Given the description of an element on the screen output the (x, y) to click on. 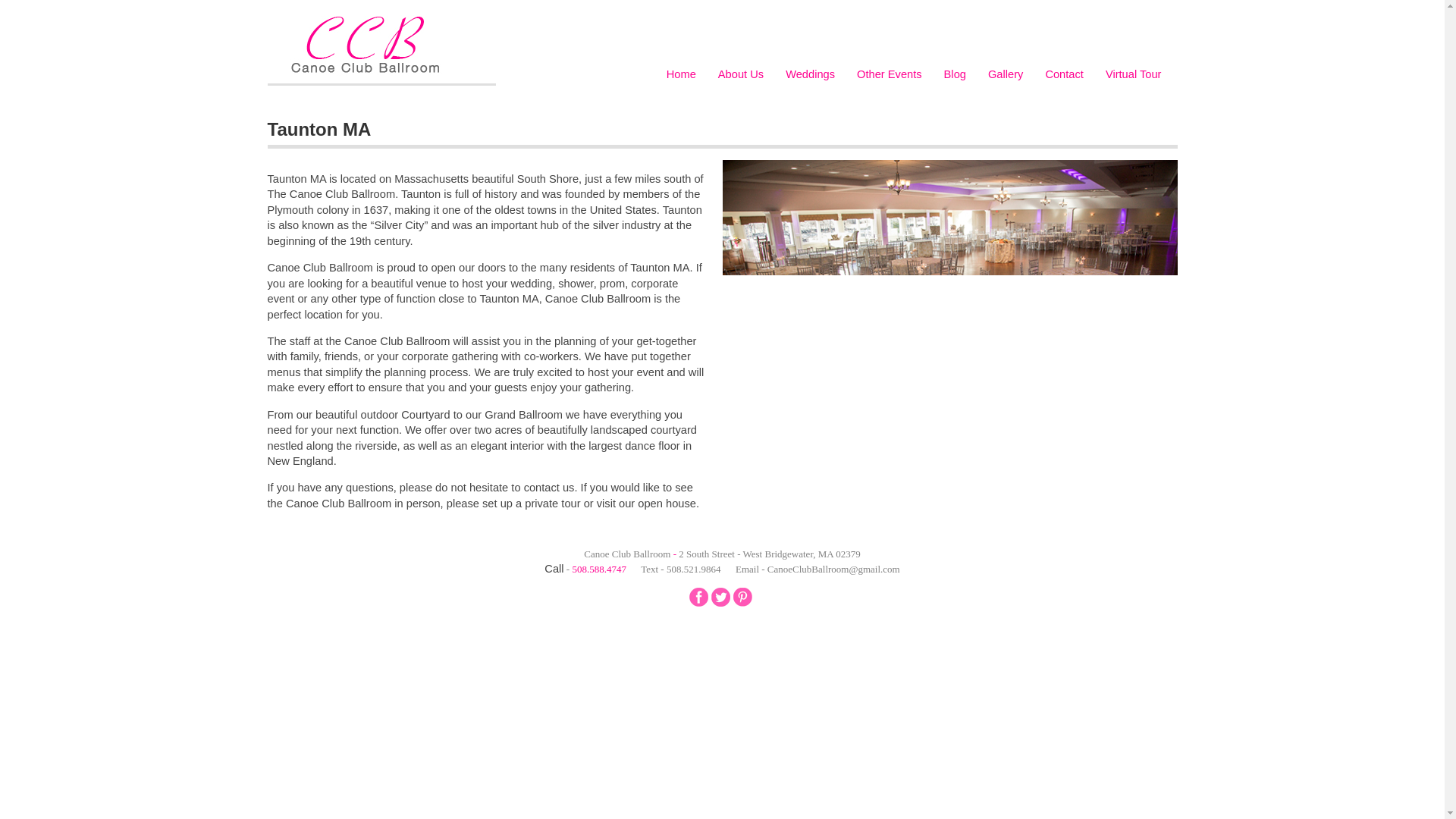
Contact (1063, 74)
Blog (954, 74)
Weddings (809, 74)
Home (681, 74)
Other Events (889, 74)
Virtual Tour (1133, 74)
Gallery (1004, 74)
About Us (740, 74)
508.588.4747 (599, 568)
